Given the description of an element on the screen output the (x, y) to click on. 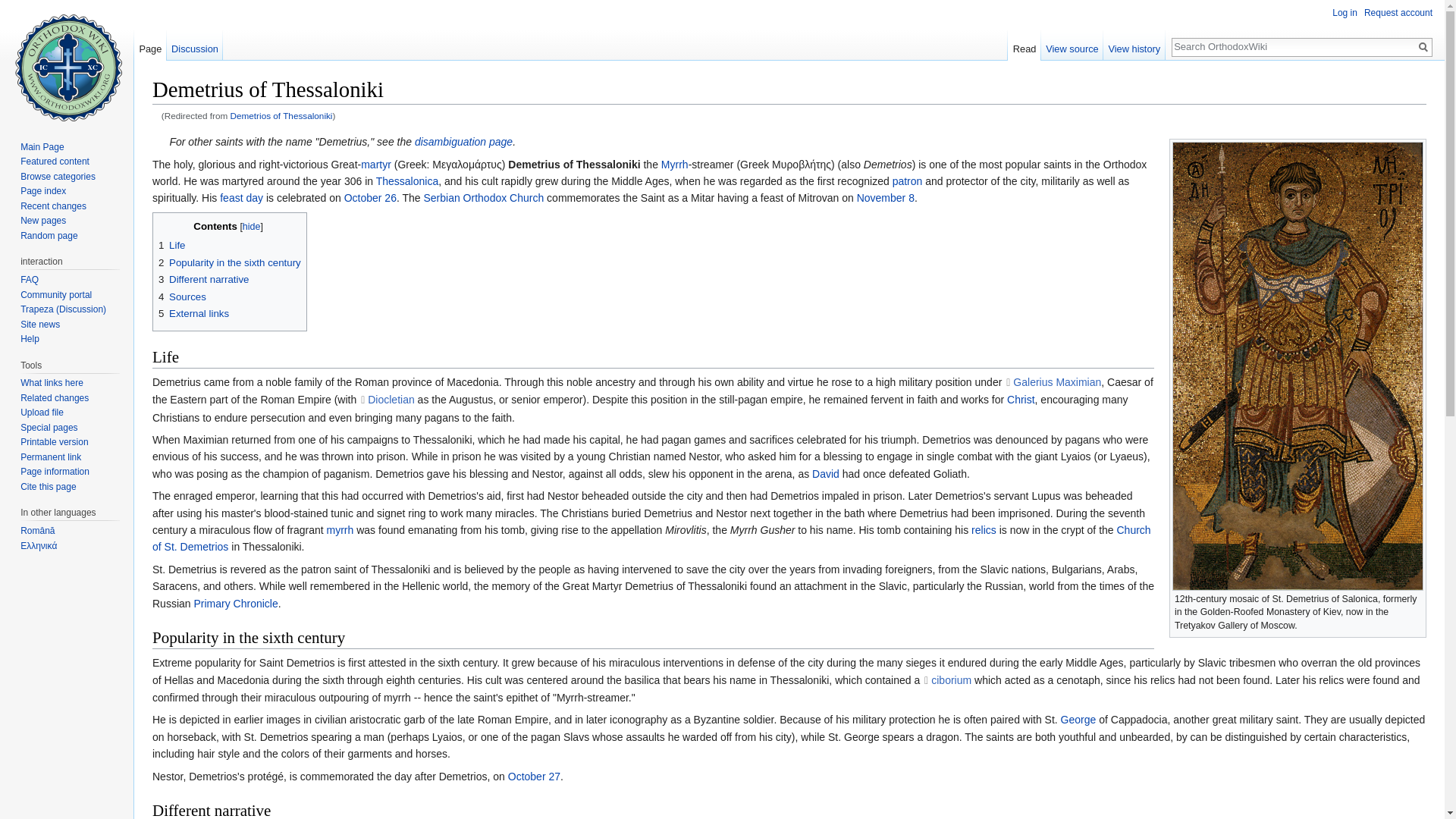
Myrrh (674, 164)
hide (251, 226)
David (826, 473)
Diocletian (386, 399)
Thessalonica (407, 181)
5 External links (193, 313)
Serbian Orthodox Church (483, 197)
George (1078, 719)
ciborium (947, 680)
1 Life (172, 244)
disambiguation page (463, 141)
Myrrh (339, 530)
Go (1423, 46)
October 26 (369, 197)
Myrrh (674, 164)
